Given the description of an element on the screen output the (x, y) to click on. 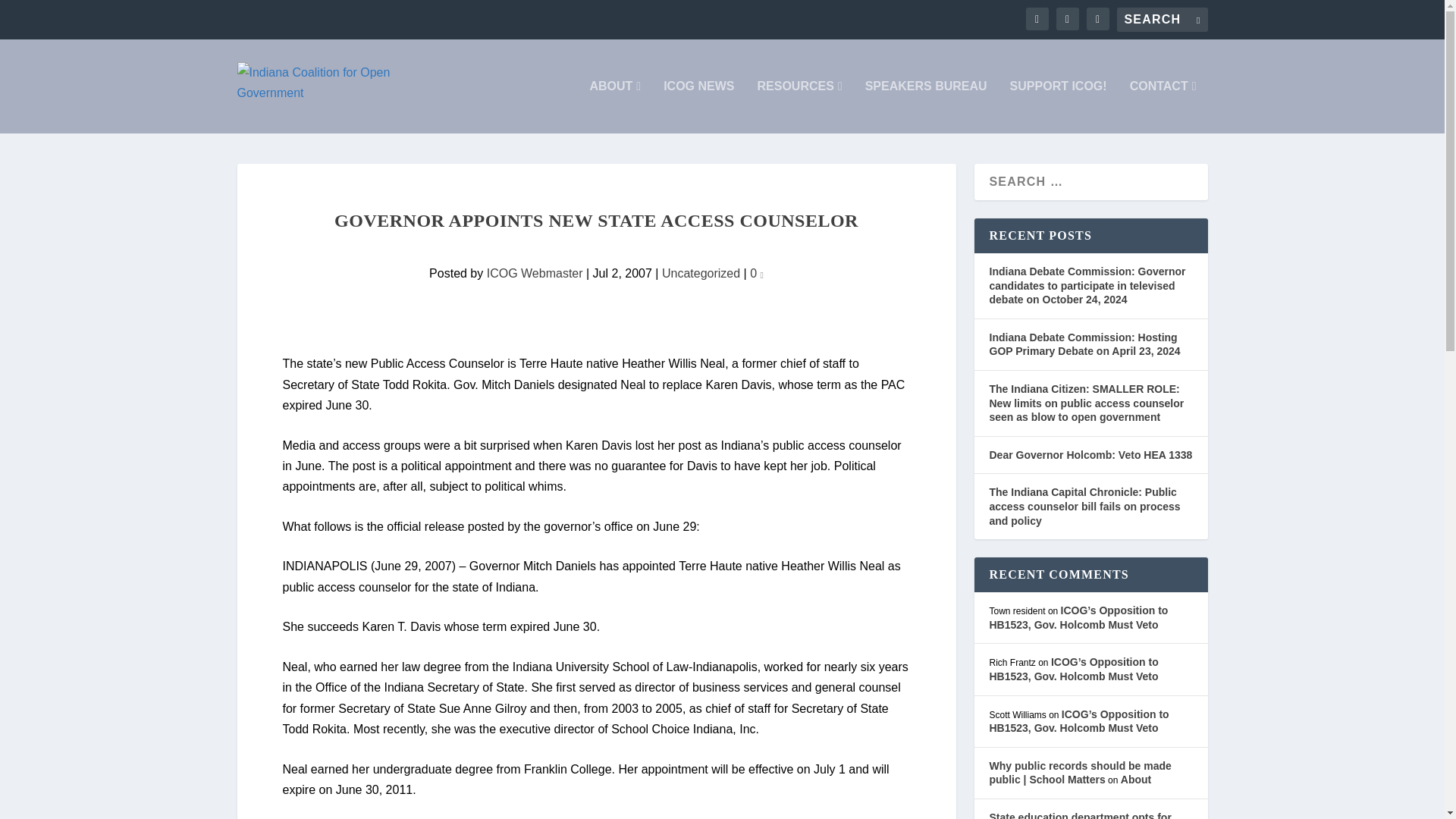
Posts by ICOG Webmaster (534, 273)
Uncategorized (700, 273)
RESOURCES (799, 106)
SPEAKERS BUREAU (925, 106)
Search for: (1161, 19)
ABOUT (614, 106)
ICOG NEWS (698, 106)
0 (755, 273)
ICOG Webmaster (534, 273)
SUPPORT ICOG! (1058, 106)
CONTACT (1162, 106)
